Given the description of an element on the screen output the (x, y) to click on. 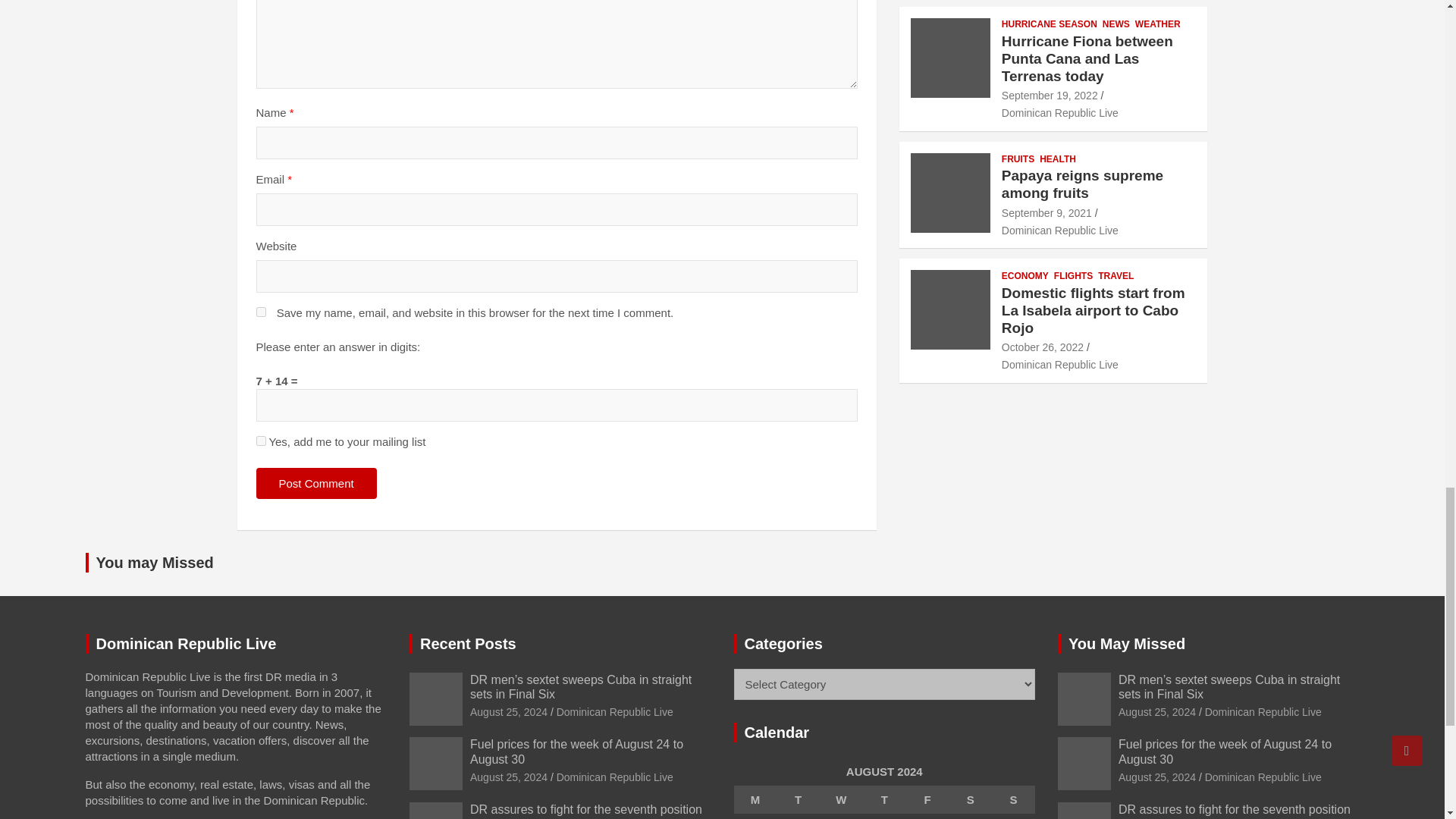
1 (261, 440)
Post Comment (316, 482)
Papaya reigns supreme among fruits (1046, 213)
yes (261, 311)
Post Comment (316, 482)
Domestic flights start from La Isabela airport to Cabo Rojo (1042, 346)
Hurricane Fiona between Punta Cana and Las Terrenas today (1049, 95)
